Given the description of an element on the screen output the (x, y) to click on. 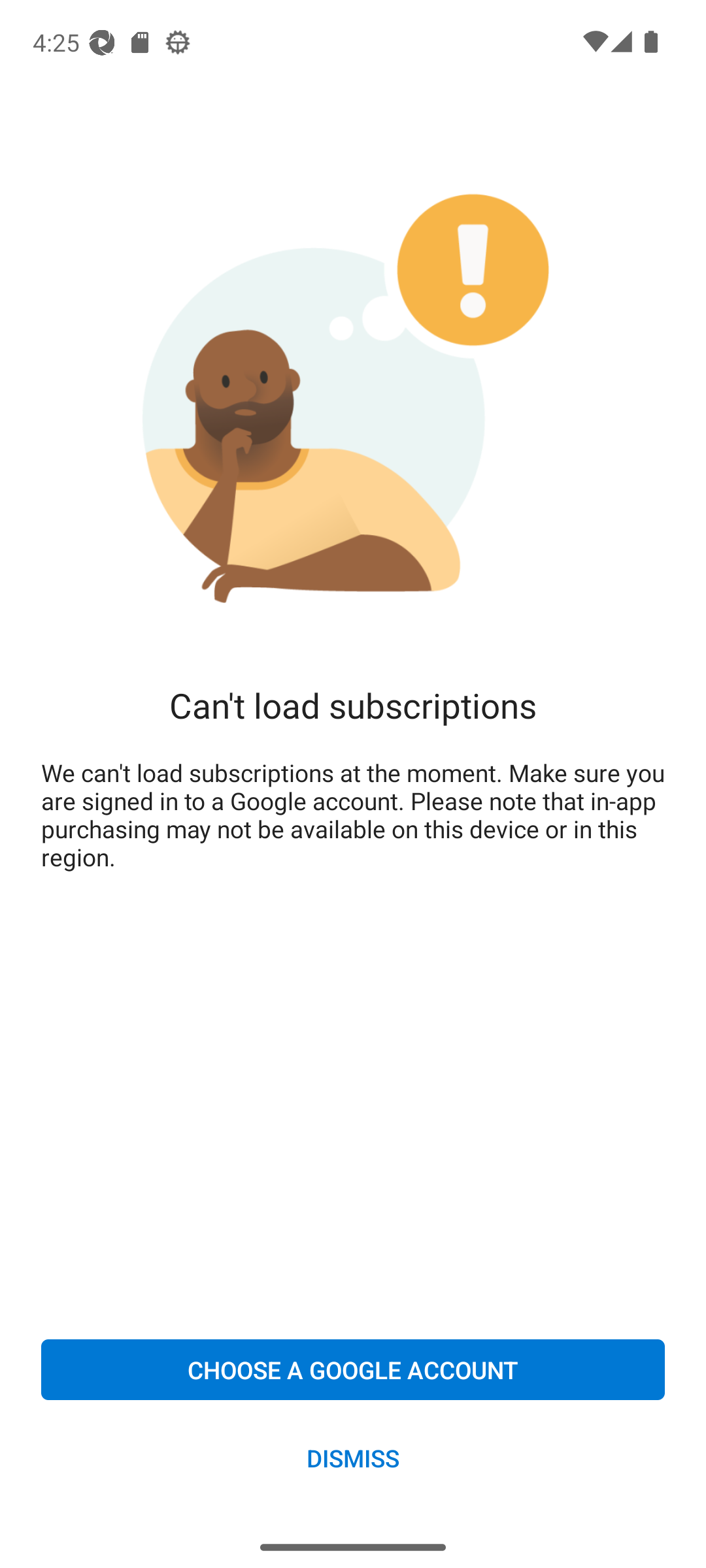
CHOOSE A GOOGLE ACCOUNT (352, 1369)
DISMISS (352, 1457)
